Given the description of an element on the screen output the (x, y) to click on. 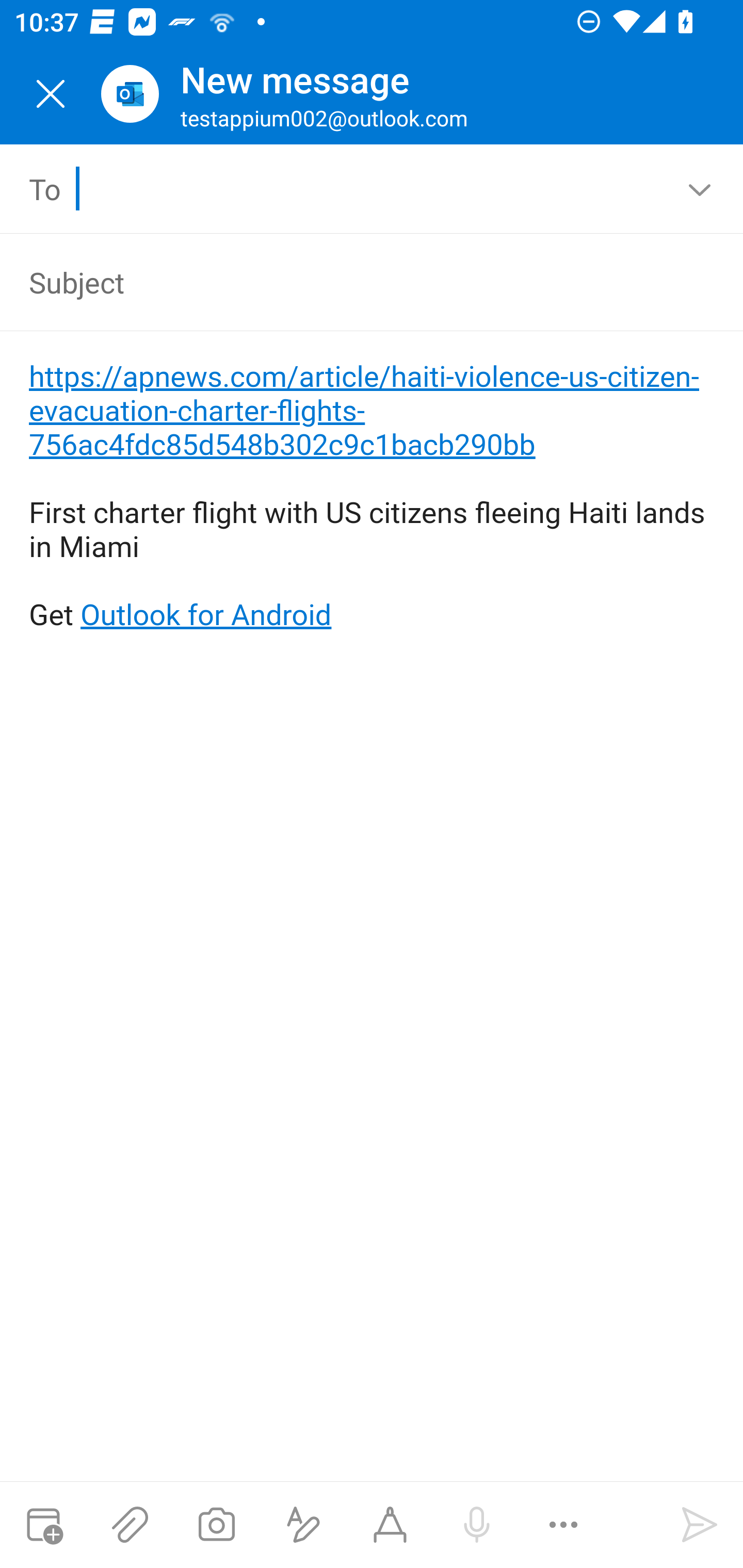
Close (50, 93)
Subject (342, 281)
Attach meeting (43, 1524)
Attach files (129, 1524)
Take a photo (216, 1524)
Show formatting options (303, 1524)
Start Ink compose (389, 1524)
More options (563, 1524)
Send (699, 1524)
